Given the description of an element on the screen output the (x, y) to click on. 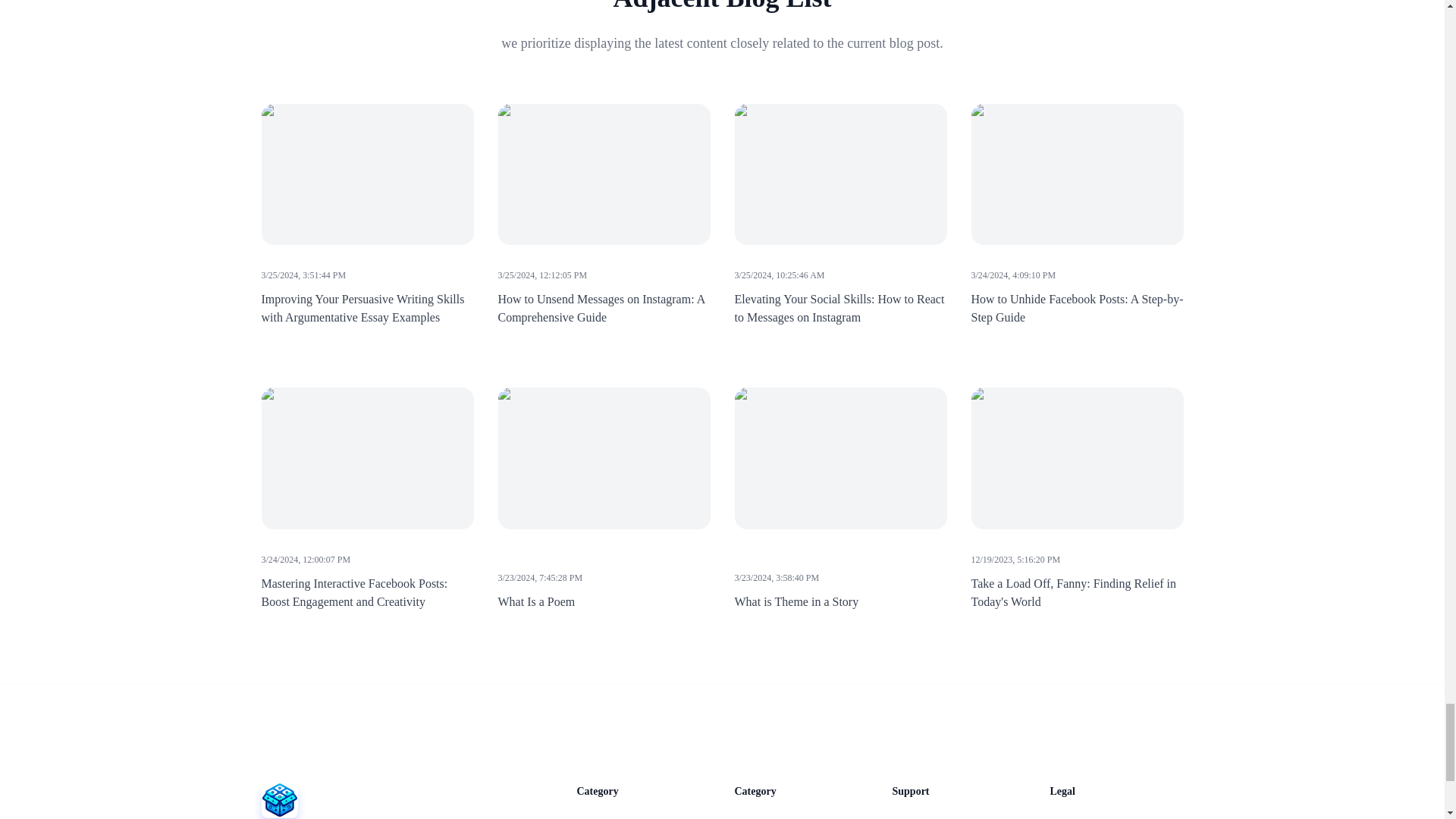
How to Unsend Messages on Instagram: A Comprehensive Guide (600, 307)
How to Unhide Facebook Posts: A Step-by-Step Guide (1076, 307)
